Given the description of an element on the screen output the (x, y) to click on. 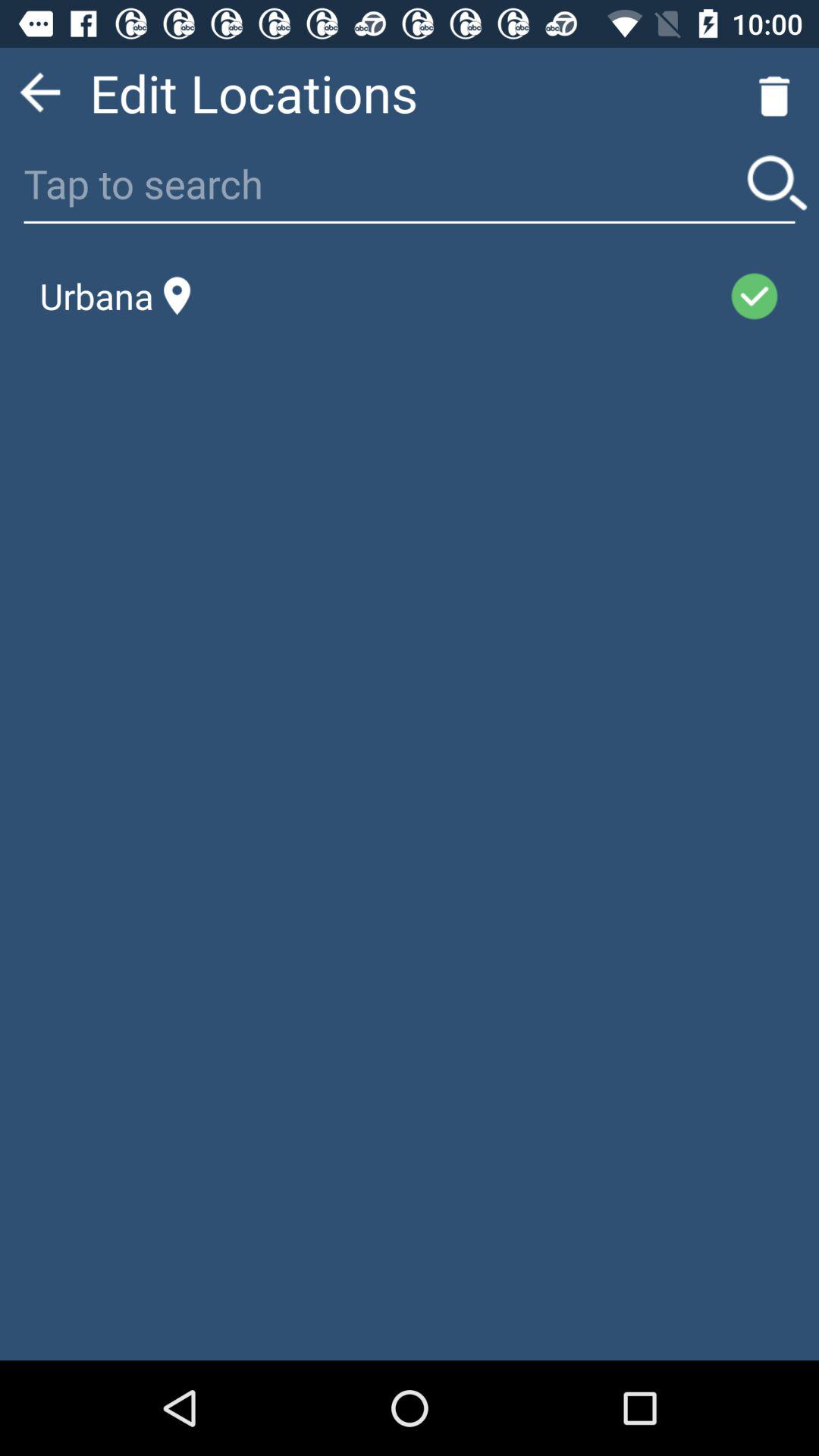
scroll to the urbana (115, 295)
